Given the description of an element on the screen output the (x, y) to click on. 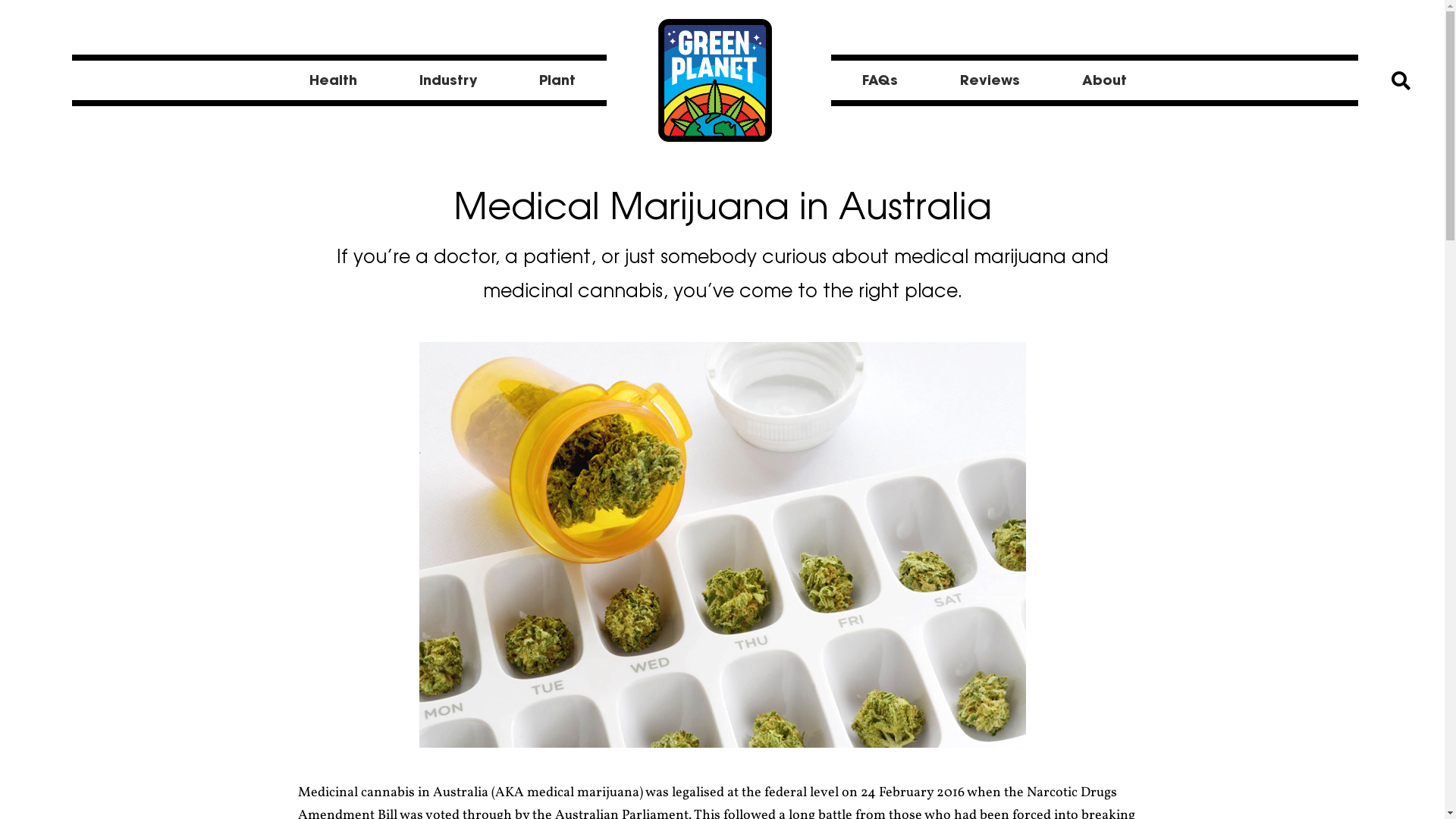
Reviews Element type: text (989, 80)
Health Element type: text (333, 80)
Industry Element type: text (448, 80)
FAQs Element type: text (879, 80)
Plant Element type: text (557, 80)
About Element type: text (1104, 80)
